Given the description of an element on the screen output the (x, y) to click on. 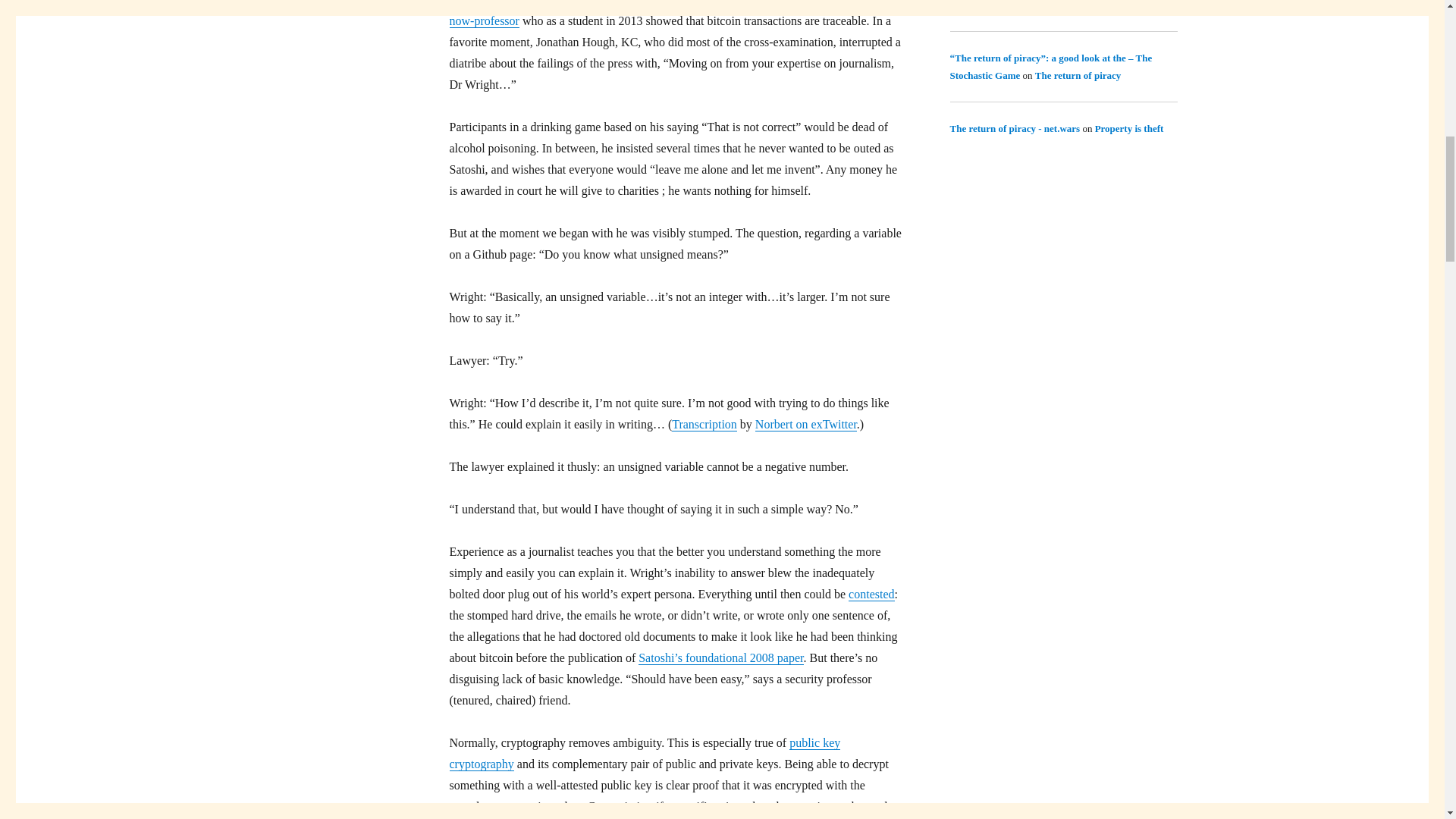
Sarah Meiklejohn (821, 2)
Norbert on exTwitter (806, 423)
Transcription (703, 423)
now-professor (483, 20)
public key cryptography (644, 753)
contested (870, 594)
